Given the description of an element on the screen output the (x, y) to click on. 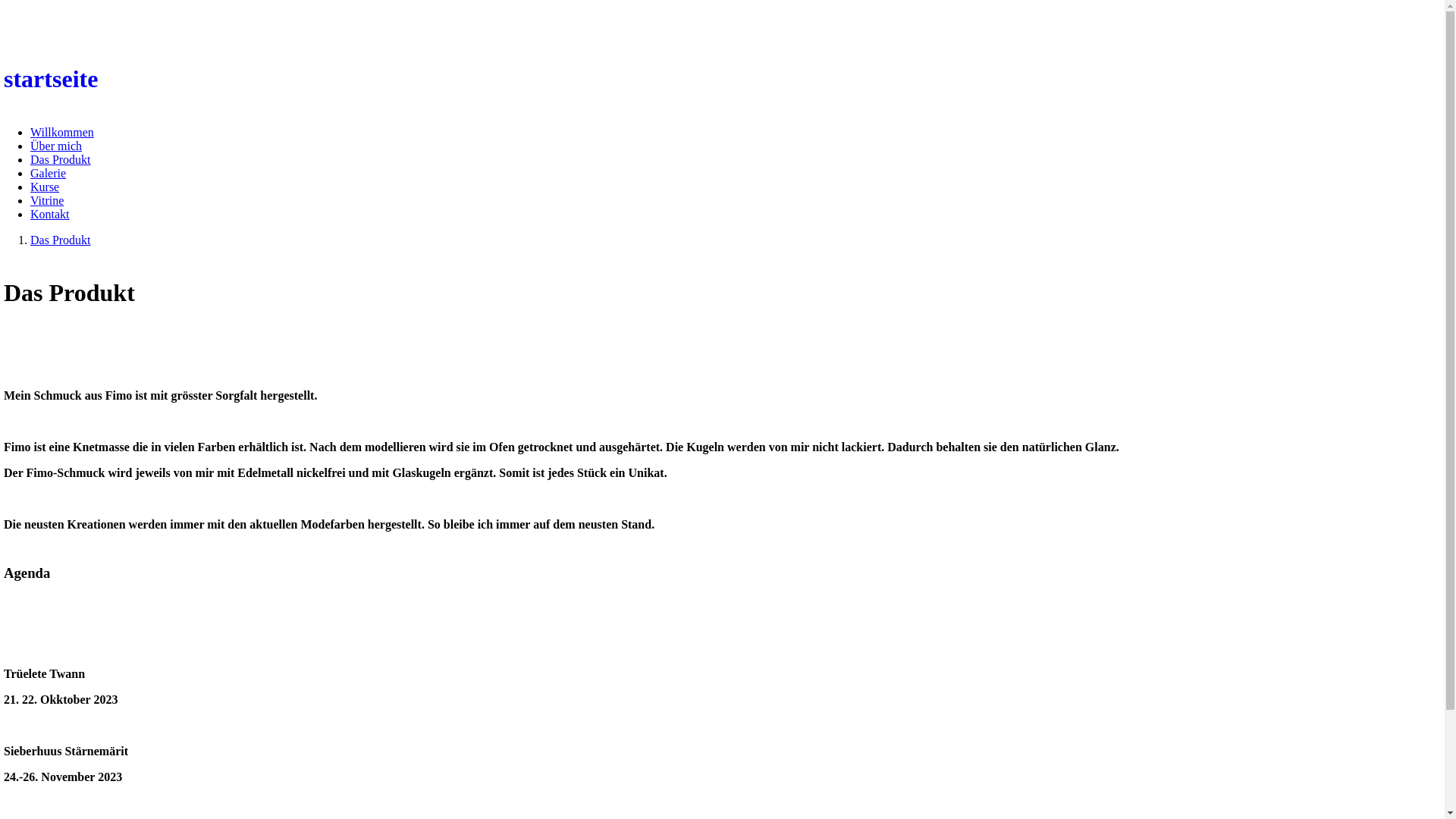
Das Produkt Element type: text (60, 239)
Willkommen Element type: text (62, 131)
Vitrine Element type: text (46, 200)
Galerie Element type: text (47, 172)
startseite Element type: text (721, 79)
Das Produkt Element type: text (60, 159)
Kurse Element type: text (44, 186)
Kontakt Element type: text (49, 213)
